Given the description of an element on the screen output the (x, y) to click on. 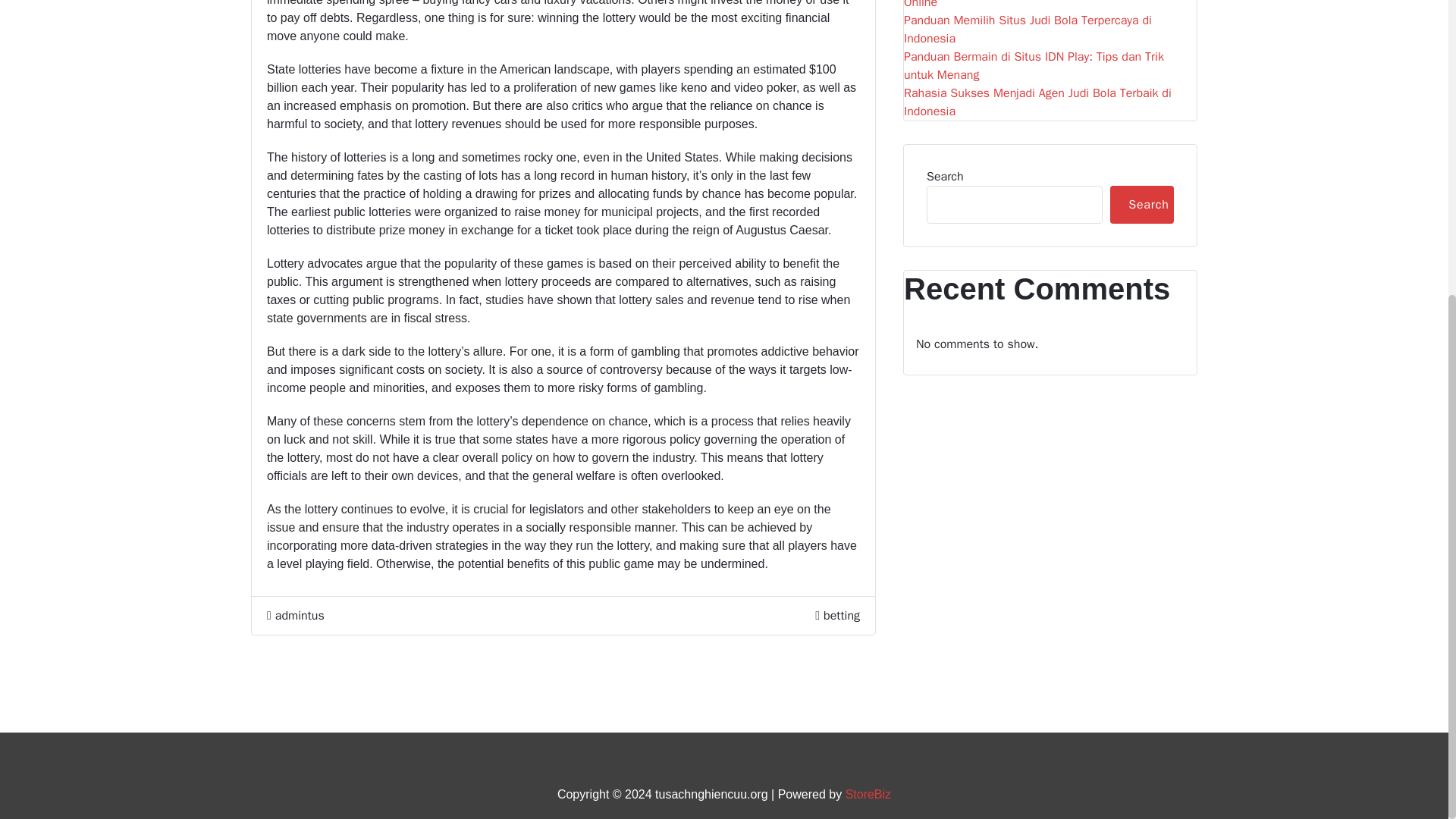
StoreBiz (868, 793)
admintus (295, 615)
Rahasia Sukses Menjadi Agen Judi Bola Terbaik di Indonesia (1050, 102)
Panduan Memilih Situs Judi Bola Terpercaya di Indonesia (1050, 29)
betting (842, 615)
admintus (295, 615)
Search (1141, 204)
Tips dan Trik Menang Bermain Poker di Situs Casino Online (1050, 5)
